Given the description of an element on the screen output the (x, y) to click on. 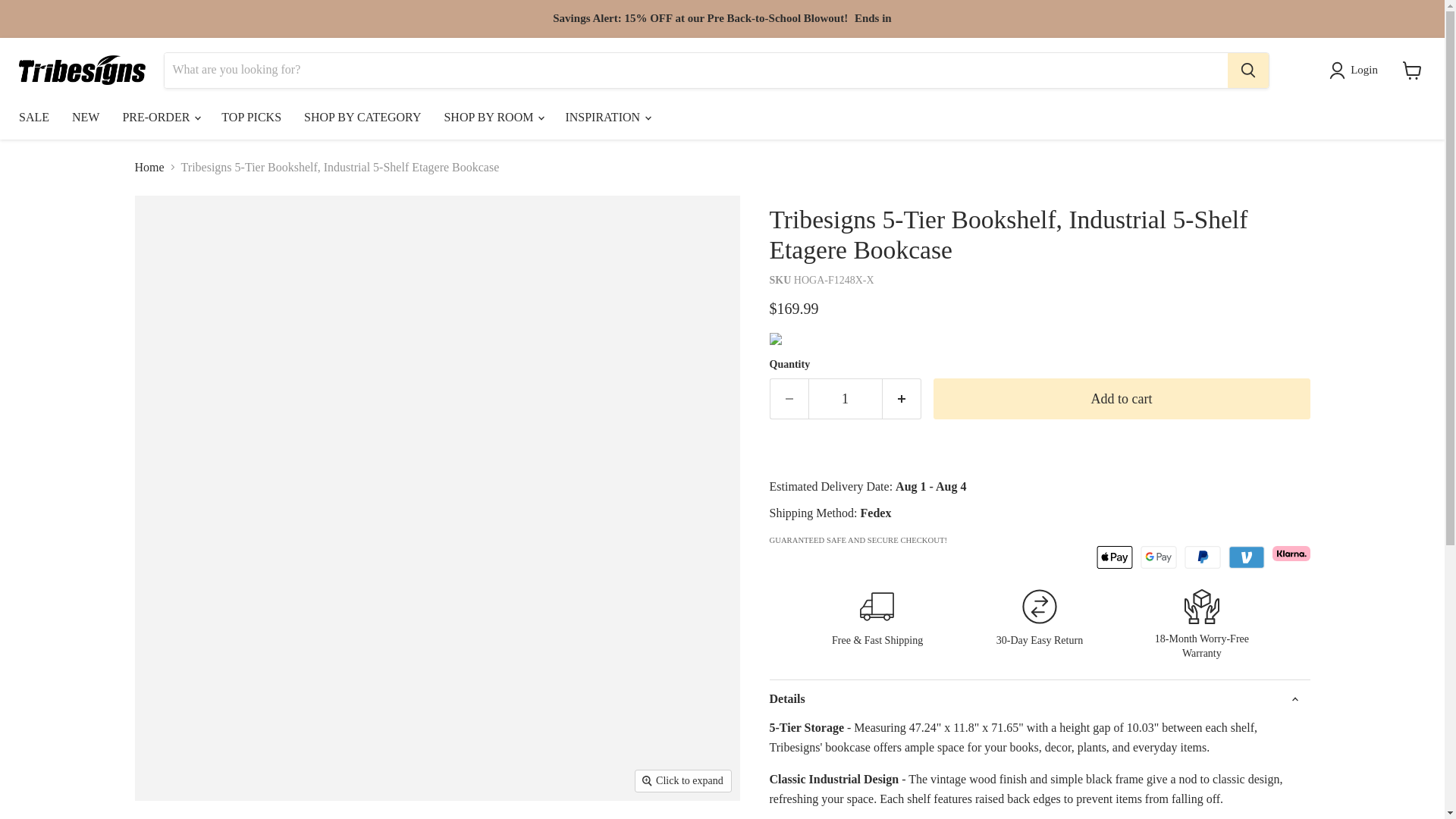
SALE (34, 117)
Apple Pay (1114, 557)
PayPal (1203, 557)
View cart (1411, 69)
Login (1356, 70)
SHOP BY CATEGORY (362, 117)
Google Pay (1158, 557)
1 (845, 399)
Venmo (1246, 557)
TOP PICKS (250, 117)
NEW (85, 117)
